Given the description of an element on the screen output the (x, y) to click on. 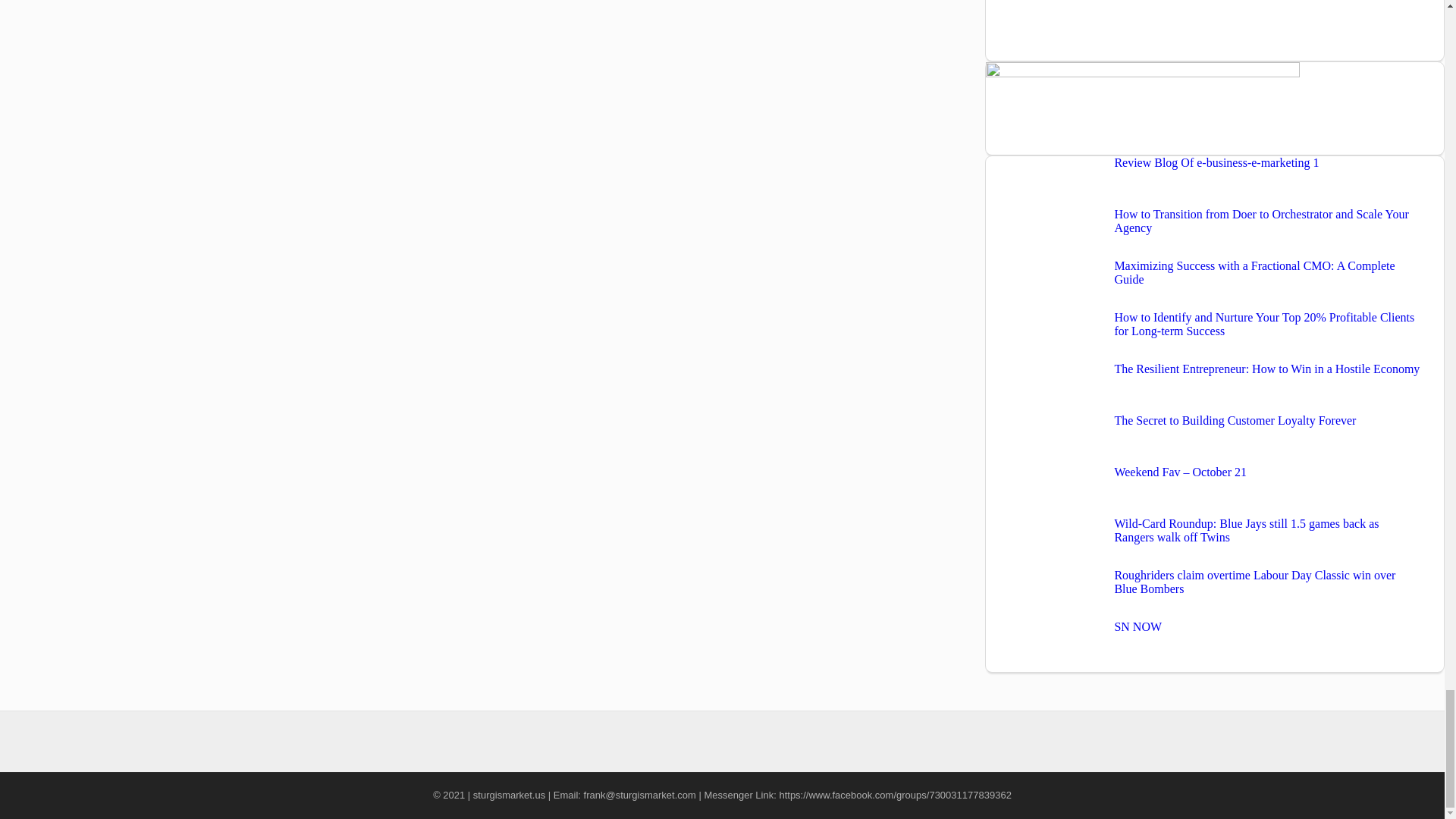
Review Blog Of e-business-e-marketing 1 (1216, 162)
The Resilient Entrepreneur: How to Win in a Hostile Economy (1266, 368)
Maximizing Success with a Fractional CMO: A Complete Guide (1253, 272)
The Secret to Building Customer Loyalty Forever (1234, 420)
